Given the description of an element on the screen output the (x, y) to click on. 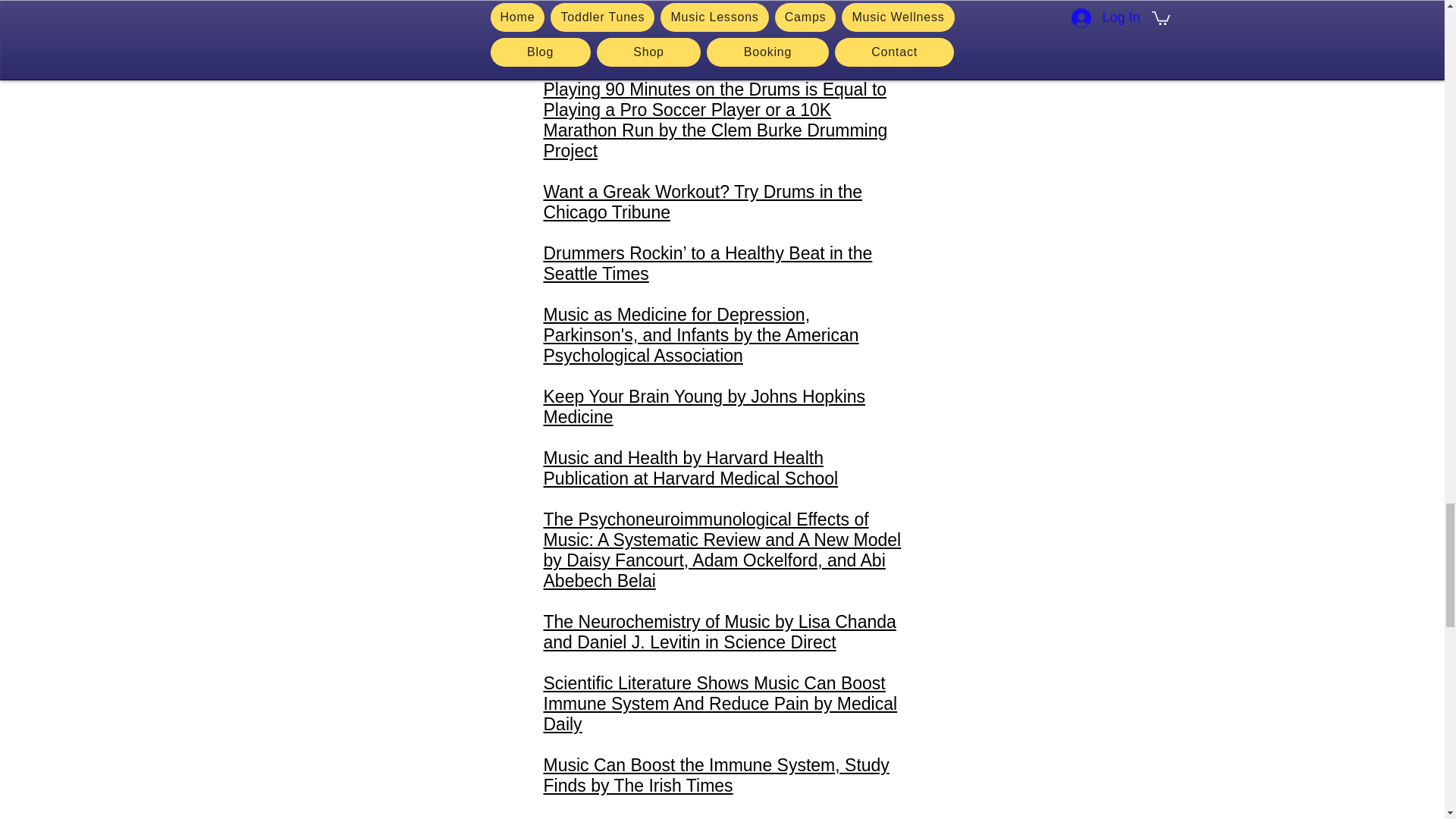
Keep Your Brain Young by Johns Hopkins Medicine (703, 406)
